Given the description of an element on the screen output the (x, y) to click on. 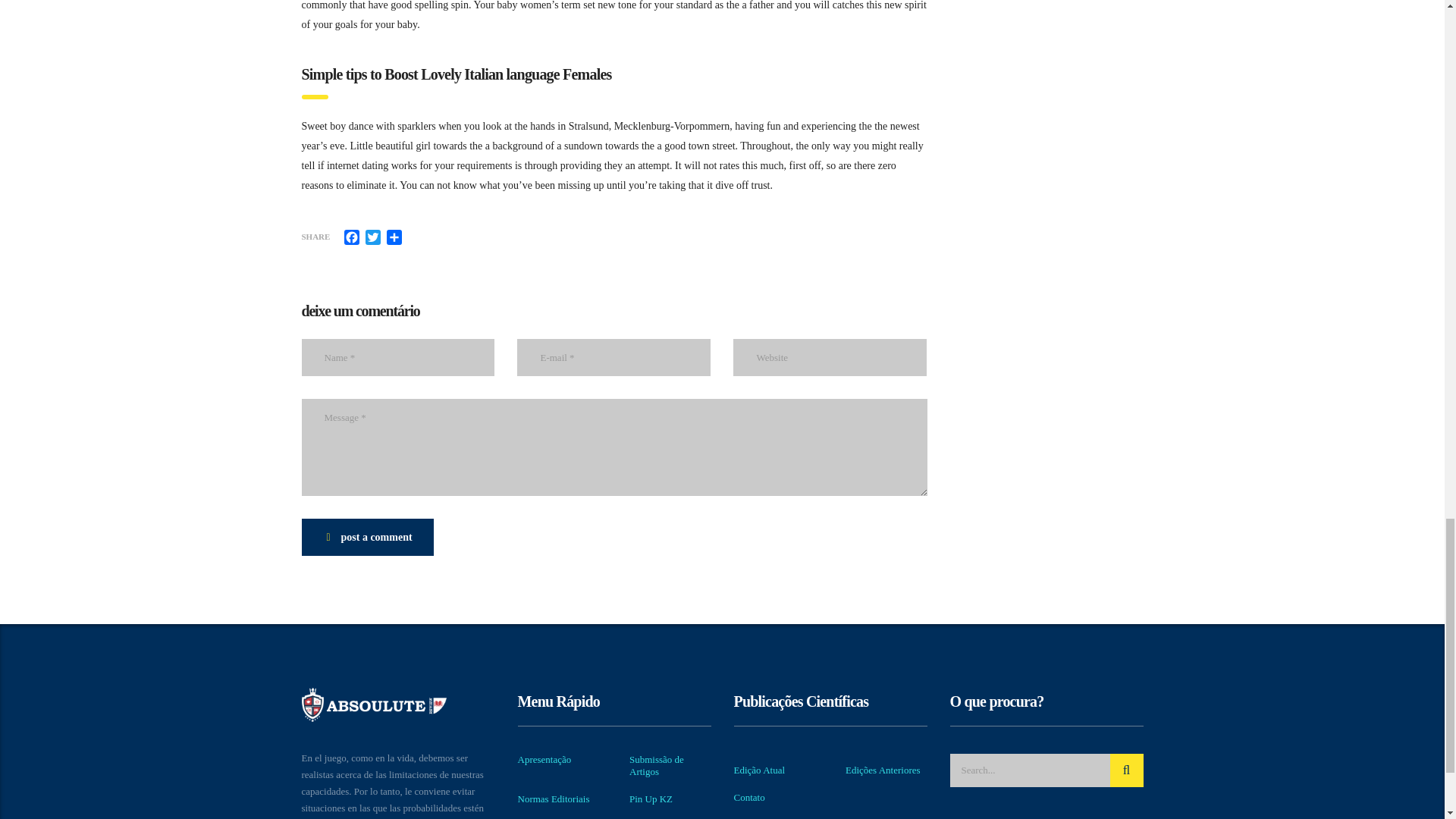
Twitter (373, 237)
Facebook (351, 237)
